Given the description of an element on the screen output the (x, y) to click on. 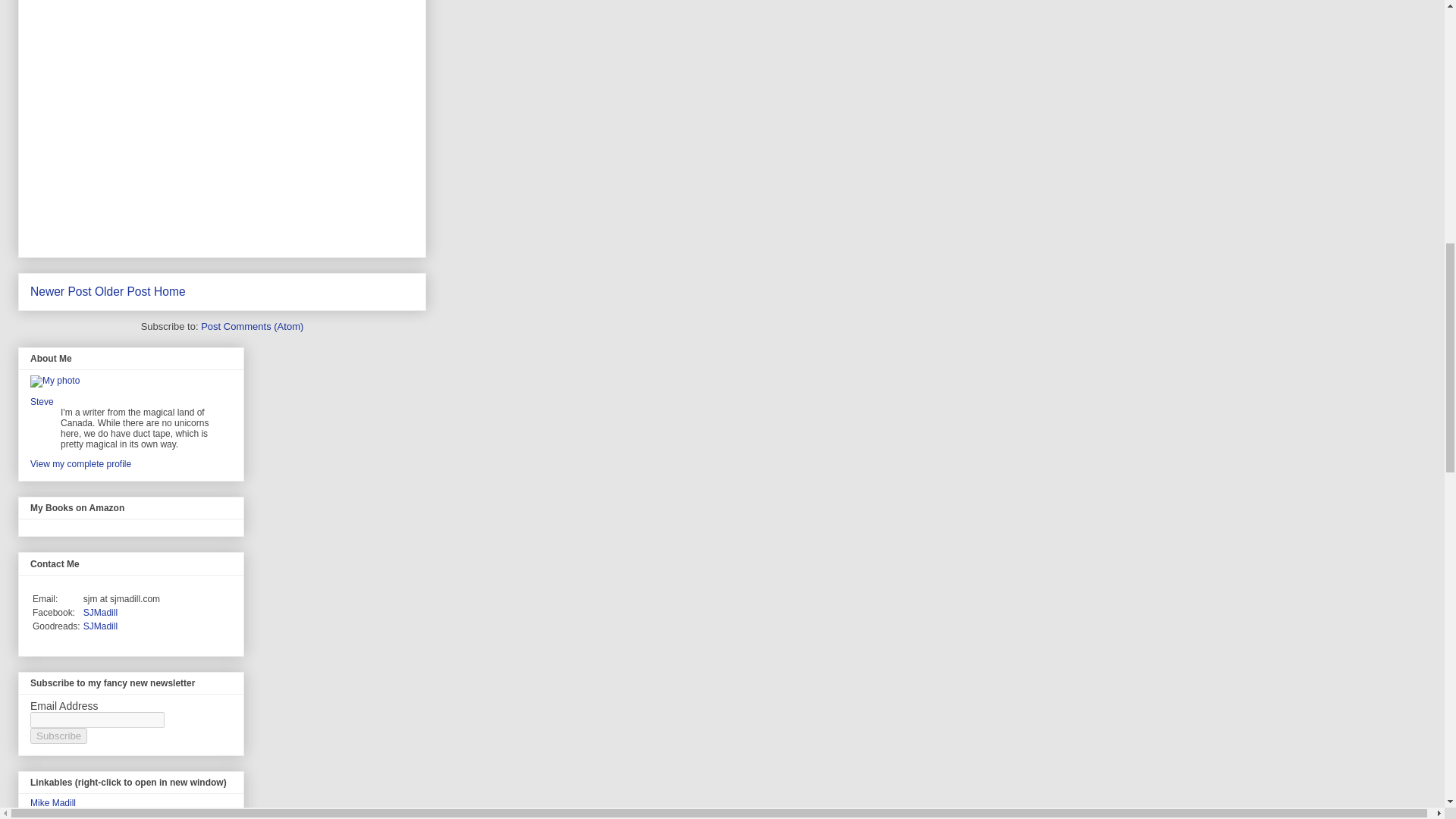
SJMadill (99, 612)
Home (170, 291)
Mike Madill (52, 802)
View my complete profile (80, 463)
Subscribe (58, 735)
Subscribe (58, 735)
Steve (41, 401)
SJMadill (99, 625)
Newer Post (60, 291)
Older Post (122, 291)
Newer Post (60, 291)
Older Post (122, 291)
